Given the description of an element on the screen output the (x, y) to click on. 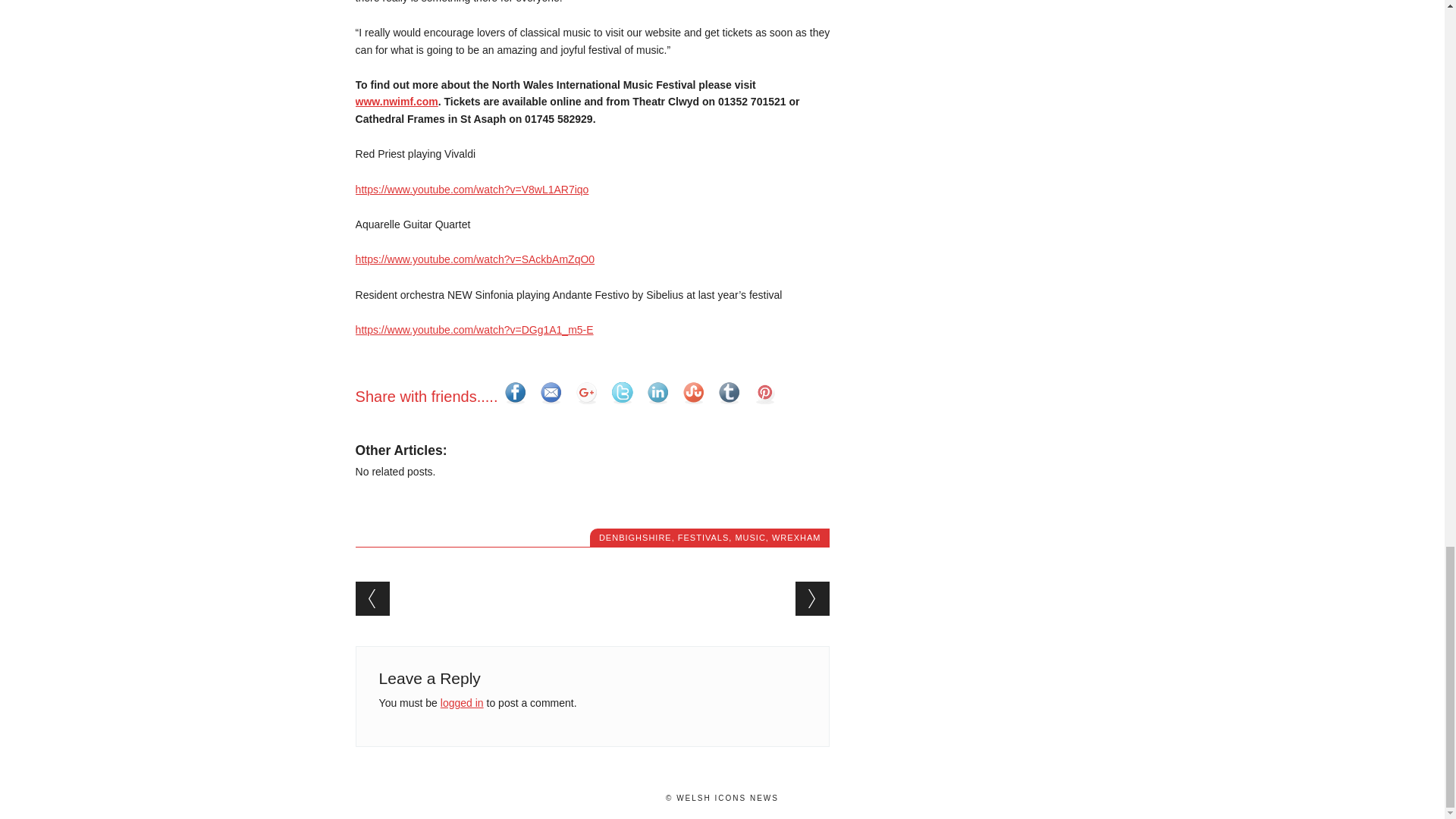
facebook (514, 392)
